Given the description of an element on the screen output the (x, y) to click on. 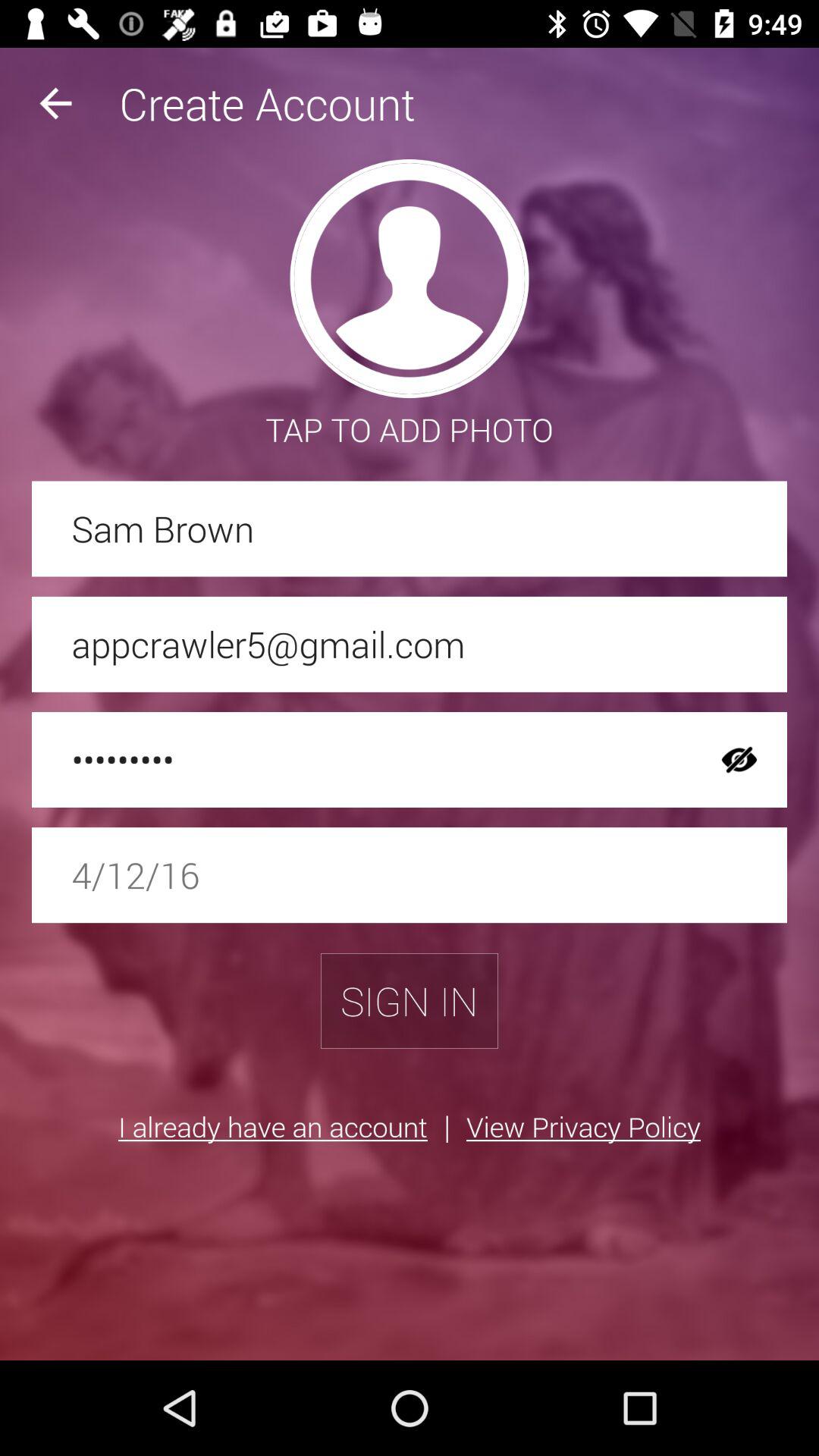
turn on the icon at the bottom right corner (583, 1126)
